Given the description of an element on the screen output the (x, y) to click on. 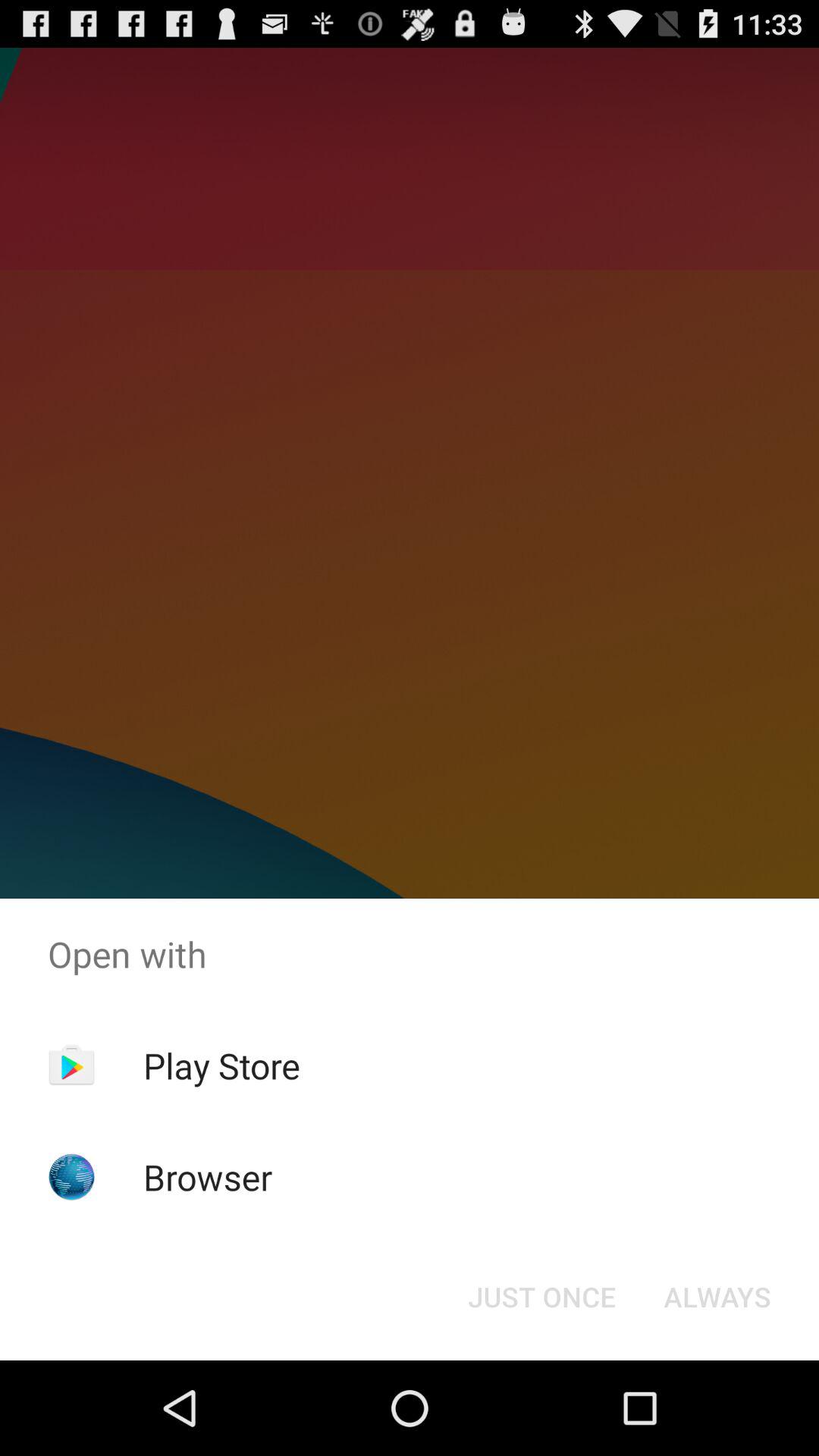
tap icon at the bottom right corner (717, 1296)
